Given the description of an element on the screen output the (x, y) to click on. 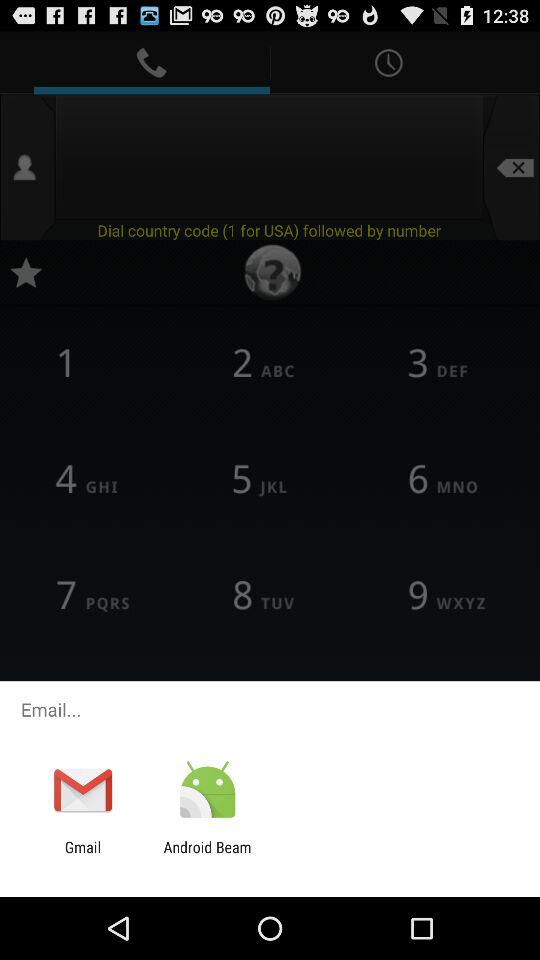
flip until android beam app (207, 856)
